Given the description of an element on the screen output the (x, y) to click on. 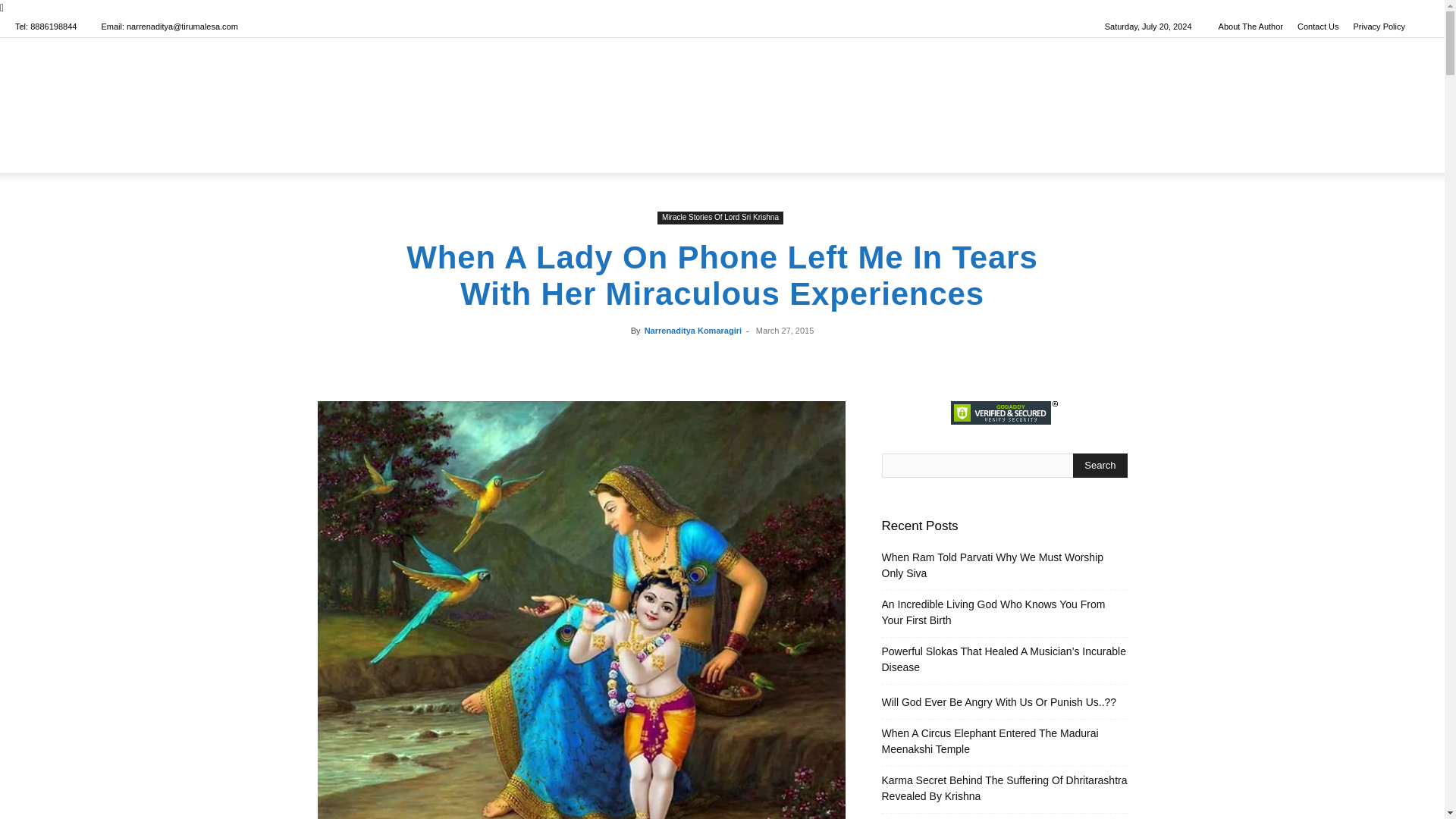
Search (1099, 465)
Search (1395, 215)
POWERFUL BOOK ON BHAGAVAN SRIRAM SIR (693, 154)
Contact Us (1317, 26)
ABOUT THE AUTHOR (890, 154)
Tirumalesa God exists. I have seen Him (722, 88)
Privacy Policy (1379, 26)
Miracle Stories Of Lord Sri Krishna (720, 217)
About The Author (1250, 26)
8886198844 (53, 26)
HOME (535, 154)
topFacebookLike (721, 358)
Narrenaditya Komaragiri (693, 329)
